Given the description of an element on the screen output the (x, y) to click on. 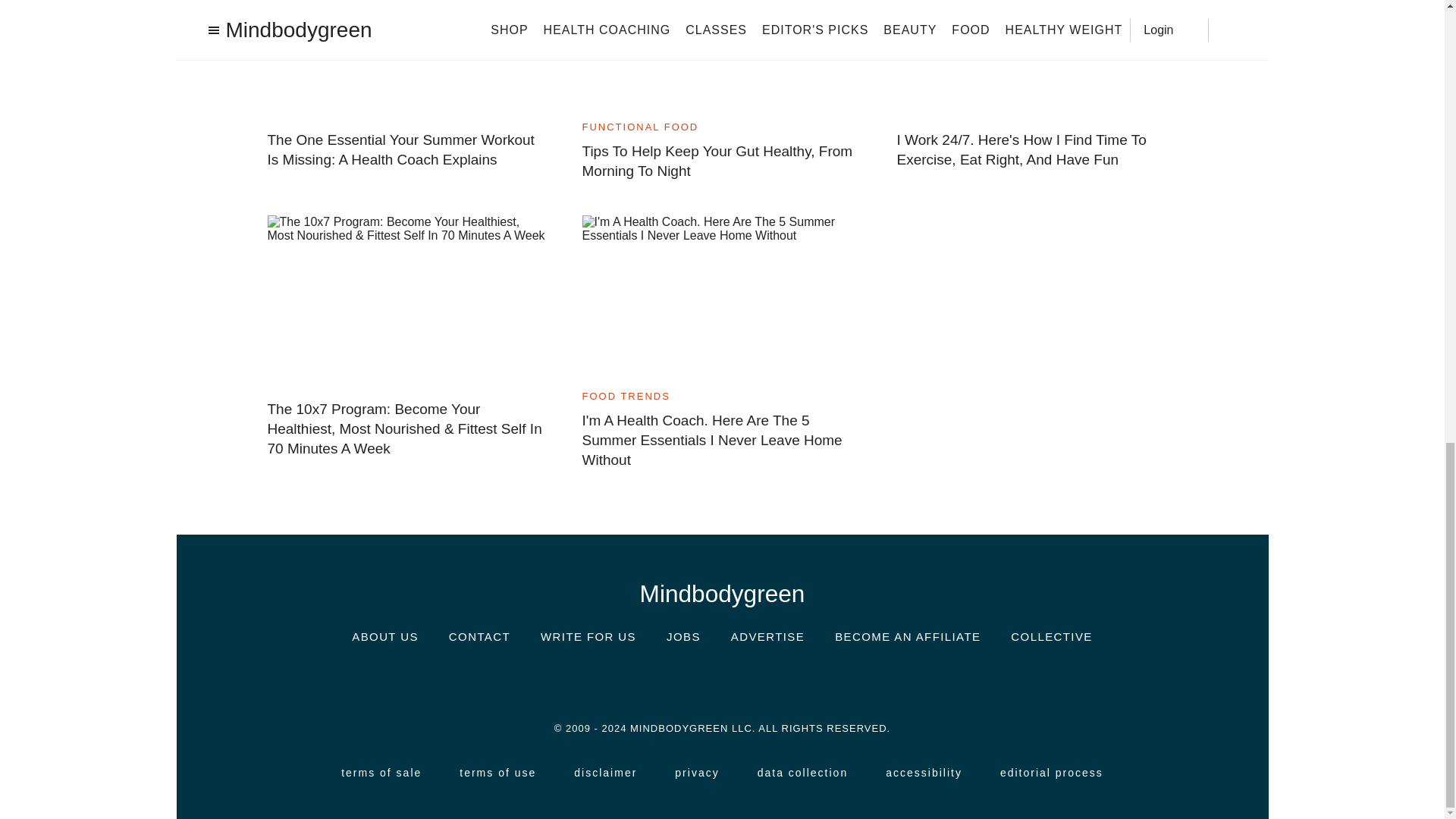
Twitter (721, 680)
Pinterest (767, 680)
YouTube (812, 680)
Instagram (630, 680)
Facebook (676, 680)
